Given the description of an element on the screen output the (x, y) to click on. 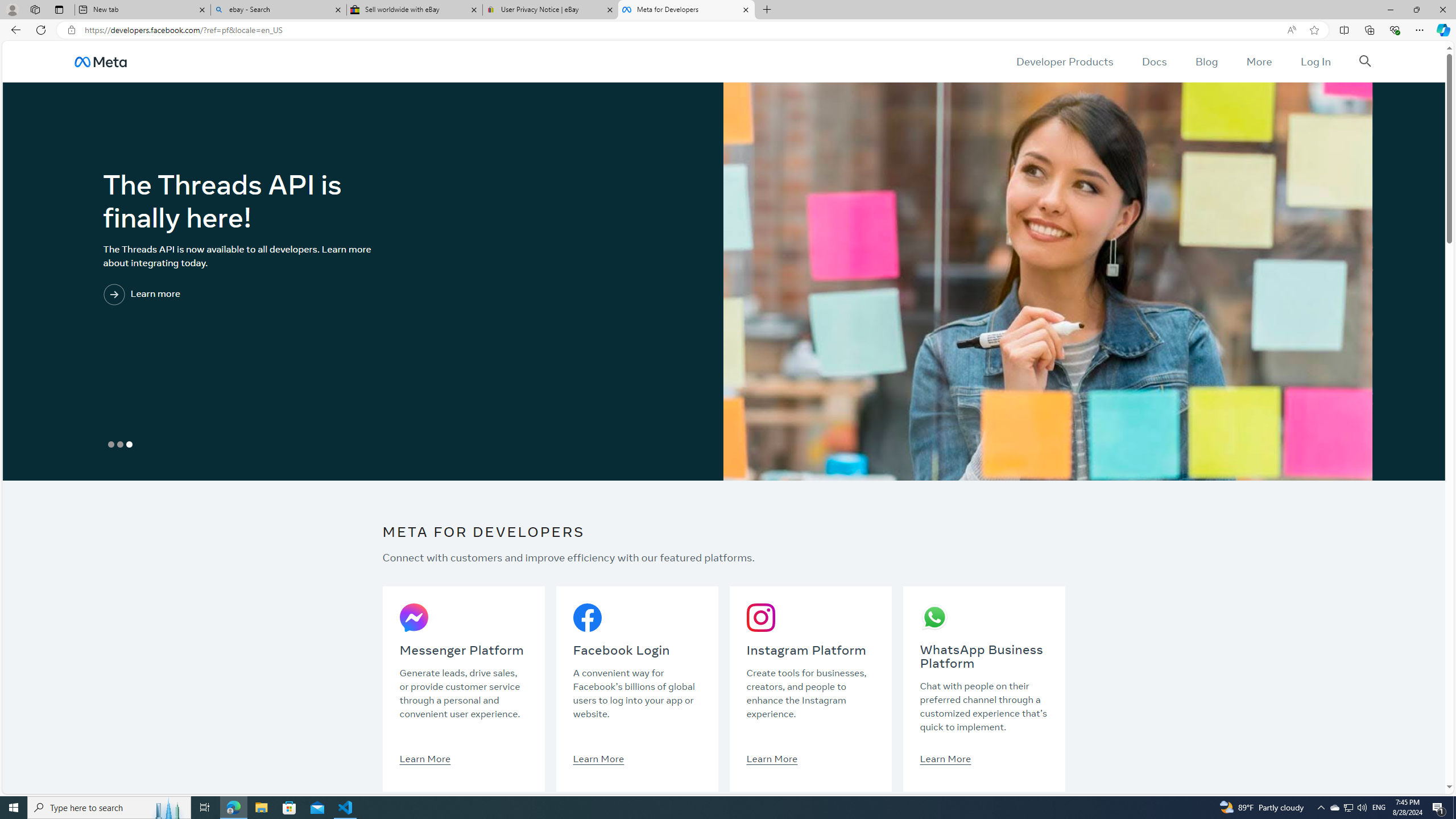
Learn more (188, 295)
Developer Products (1064, 61)
Show Slide 2 (119, 444)
Sell worldwide with eBay (414, 9)
